Given the description of an element on the screen output the (x, y) to click on. 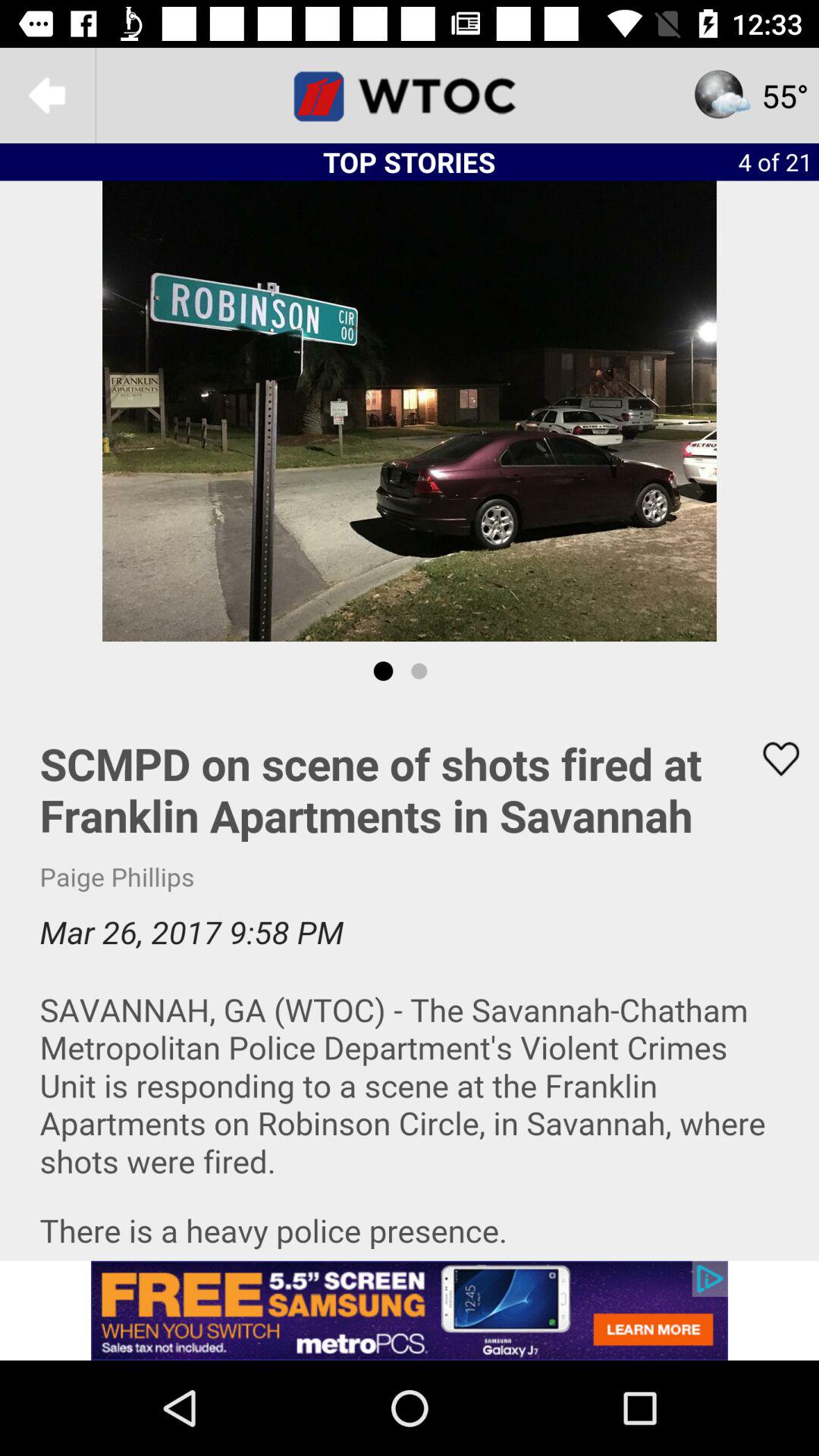
go back (47, 95)
